Given the description of an element on the screen output the (x, y) to click on. 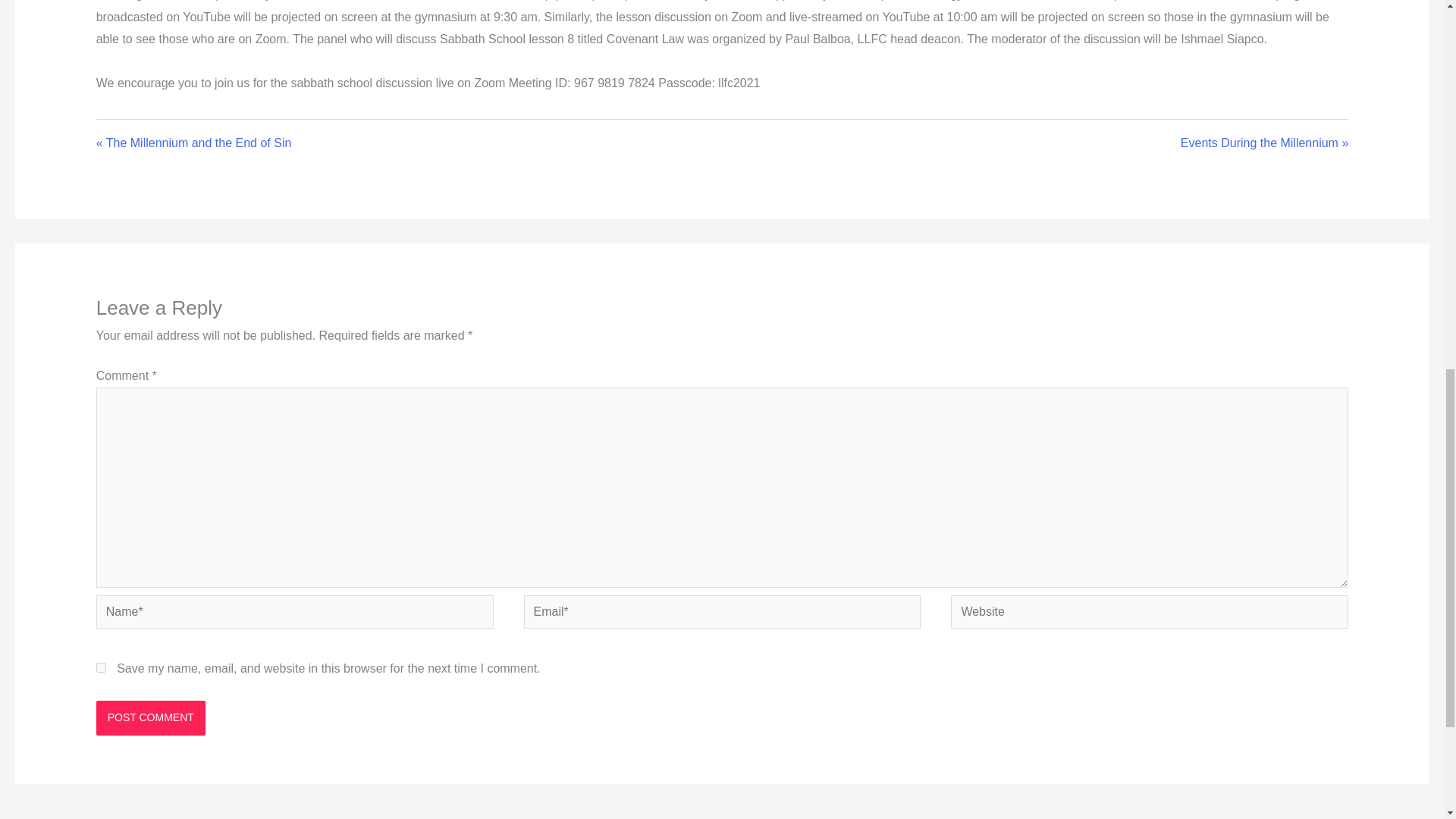
Post Comment (150, 718)
Post Comment (150, 718)
yes (101, 667)
